Given the description of an element on the screen output the (x, y) to click on. 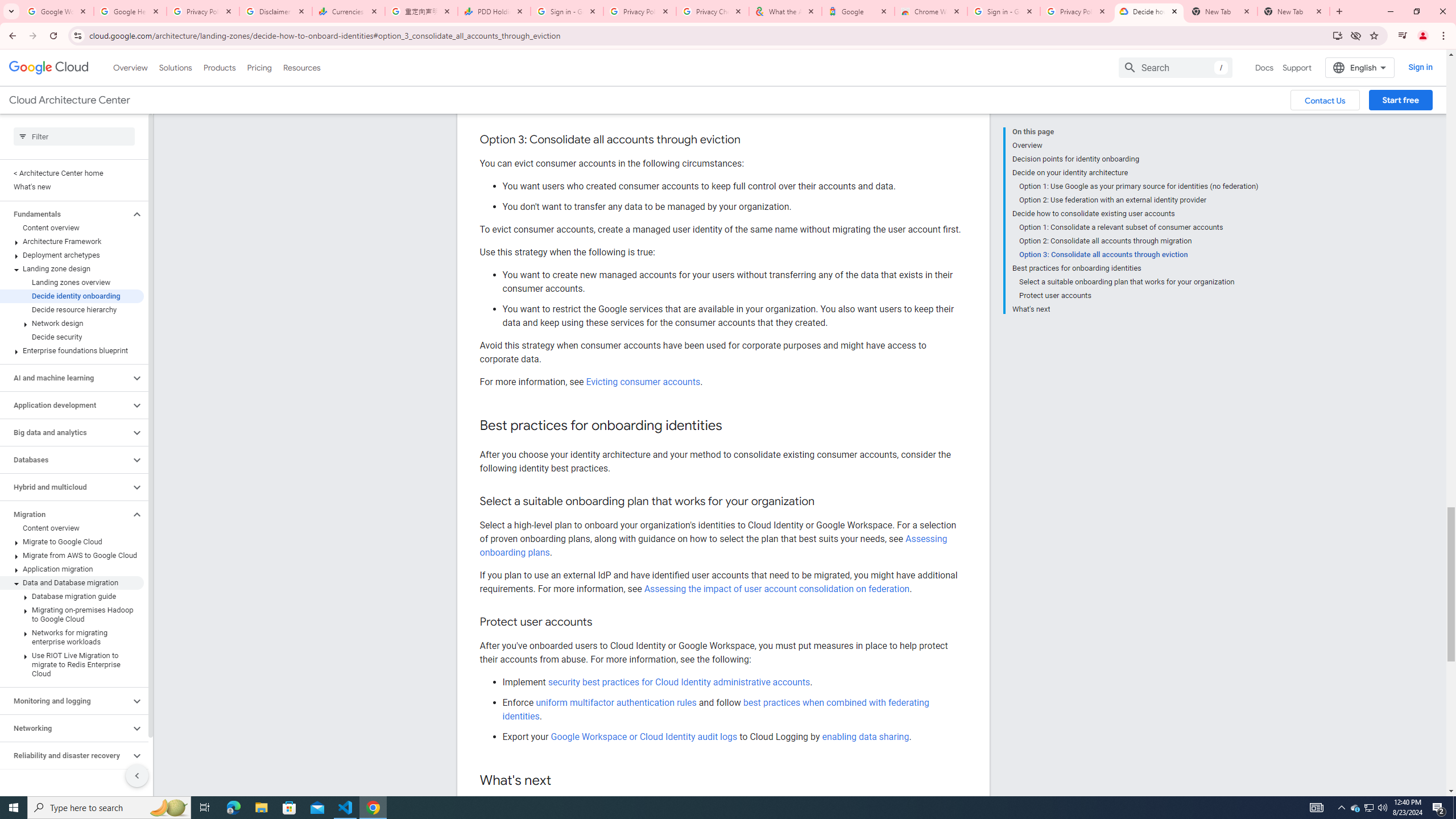
Application development (64, 404)
Option 3: Consolidate all accounts through eviction (1138, 254)
AI and machine learning (64, 377)
Hybrid and multicloud (64, 486)
Deployment archetypes (72, 255)
Chrome Web Store - Color themes by Chrome (930, 11)
Networks for migrating enterprise workloads (72, 637)
Docs, selected (1264, 67)
Search (1174, 67)
Google (857, 11)
Migrate to Google Cloud (72, 541)
Solutions (175, 67)
